Given the description of an element on the screen output the (x, y) to click on. 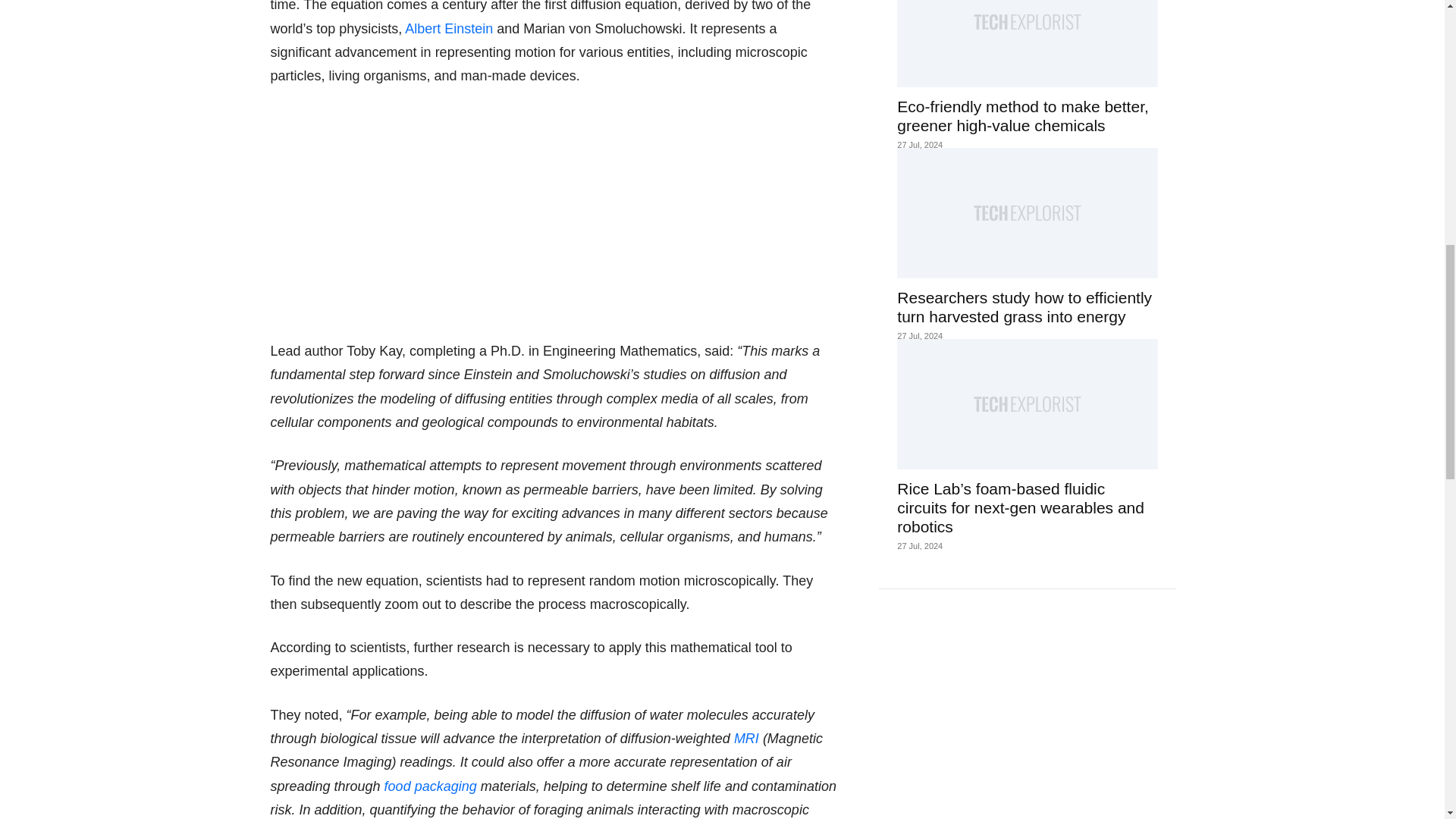
Albert Einstein (448, 28)
MRI (745, 738)
